Given the description of an element on the screen output the (x, y) to click on. 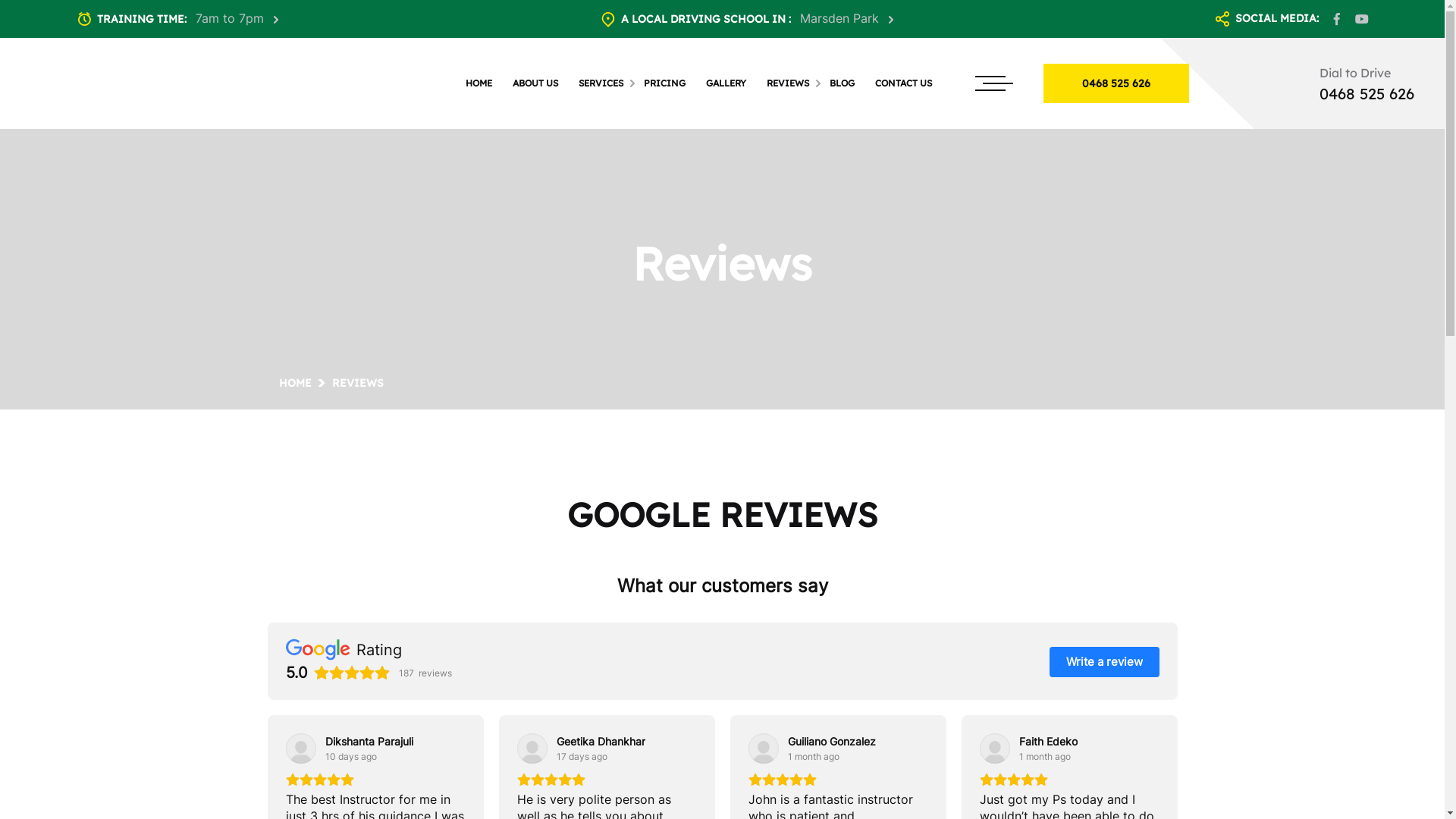
REVIEWS Element type: text (794, 82)
GALLERY Element type: text (732, 82)
HOME Element type: text (485, 82)
Dikshanta Parajuli Element type: text (368, 741)
Geetika Dhankhar Element type: text (600, 741)
Write a review Element type: text (1104, 661)
ABOUT US Element type: text (541, 82)
Guiliano Gonzalez Element type: text (831, 741)
BLOG Element type: text (848, 82)
Faith Edeko Element type: text (1048, 741)
HOME Element type: text (295, 382)
PRICING Element type: text (670, 82)
CONTACT US Element type: text (909, 82)
0468 525 626 Element type: text (1366, 93)
0468 525 626 Element type: text (1116, 83)
SERVICES Element type: text (607, 82)
